Given the description of an element on the screen output the (x, y) to click on. 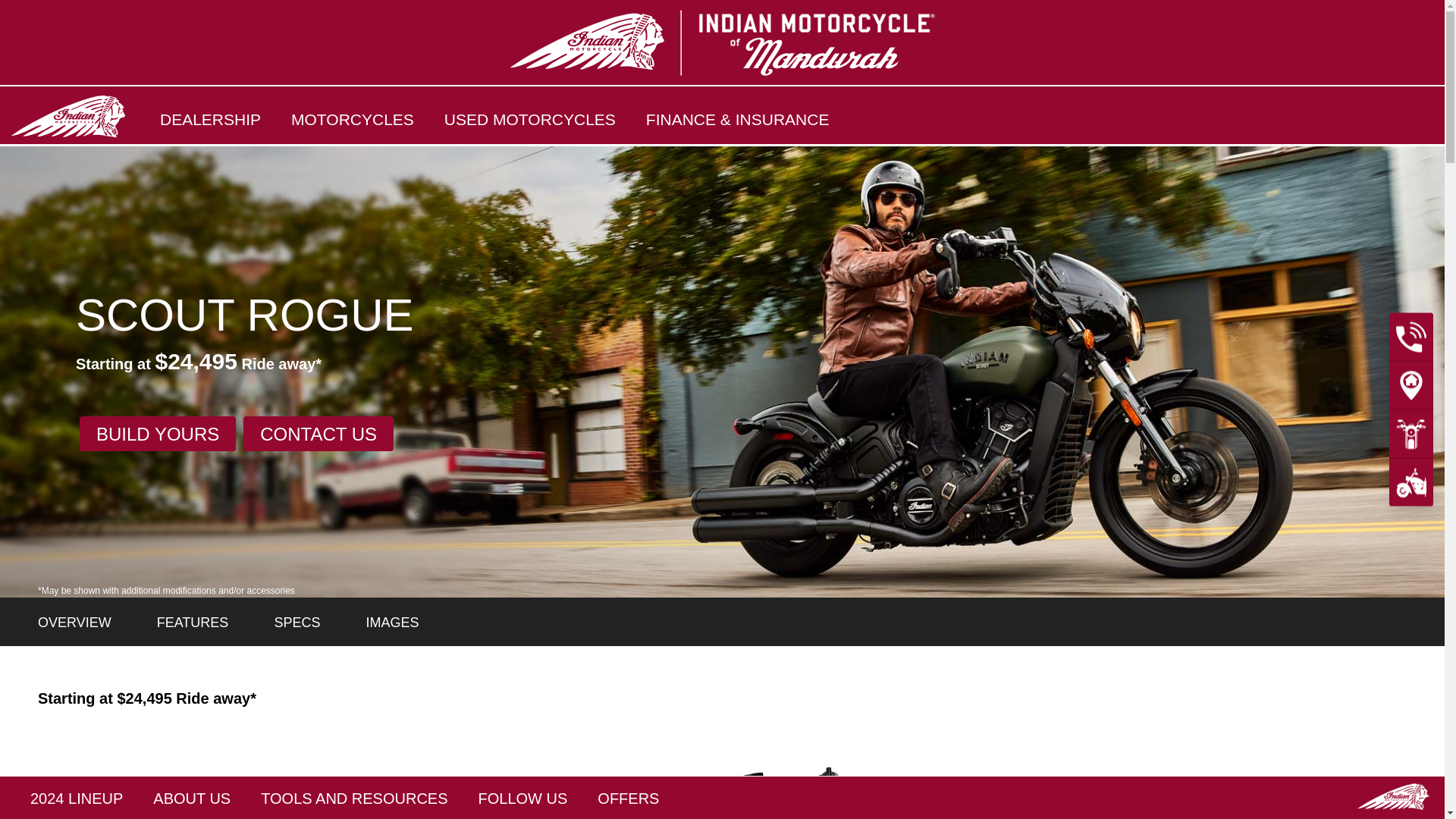
MOTORCYCLES (352, 119)
Indian Motorcycle (1392, 795)
DEALERSHIP (210, 119)
